Given the description of an element on the screen output the (x, y) to click on. 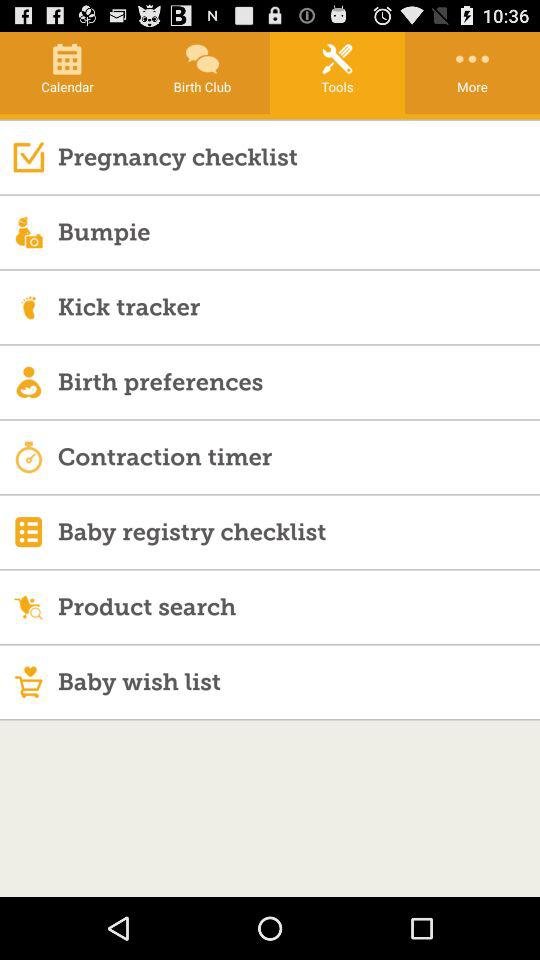
scroll until baby registry checklist icon (298, 531)
